Given the description of an element on the screen output the (x, y) to click on. 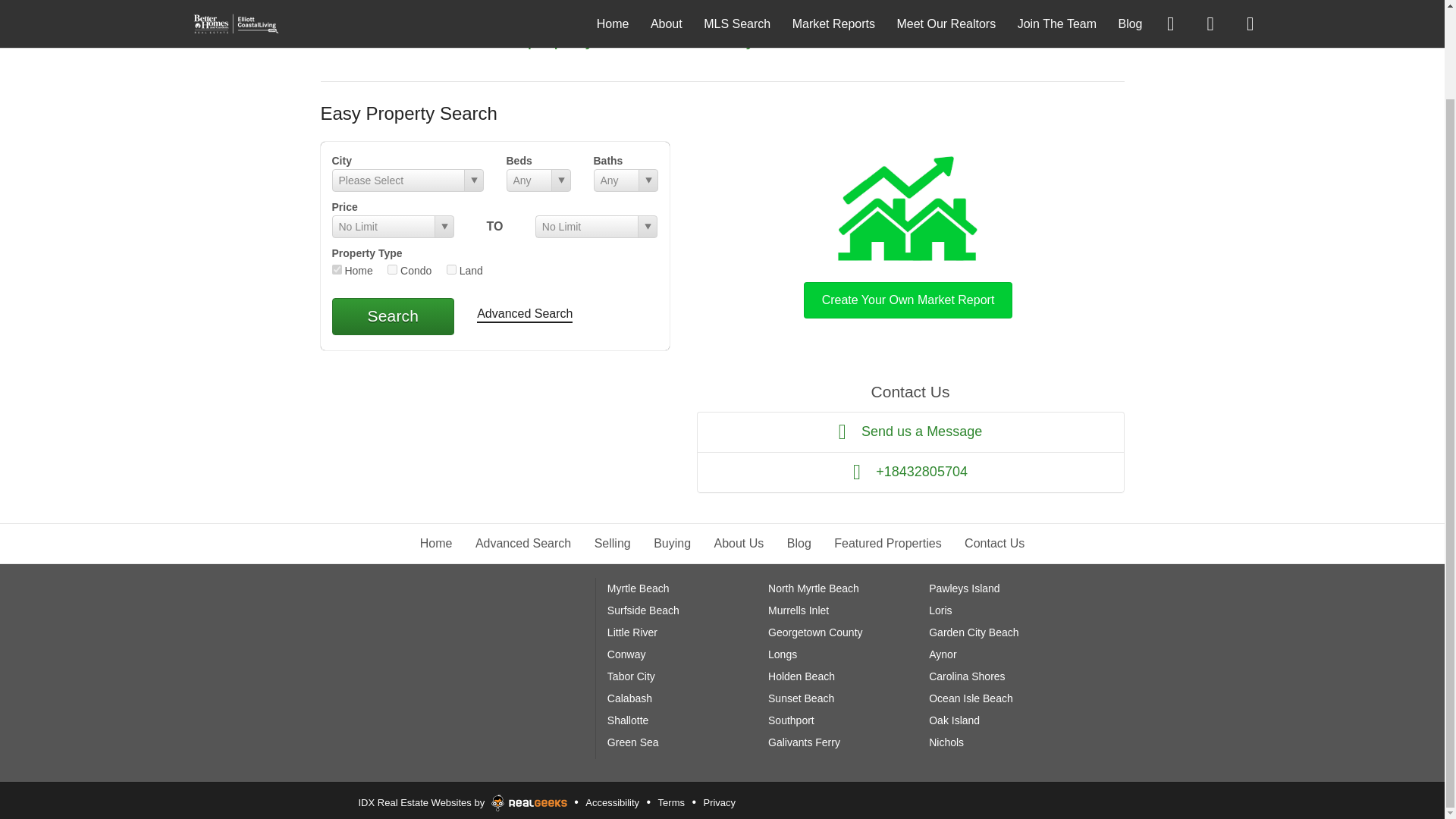
About Us (739, 543)
Search (392, 316)
Little River (632, 632)
Selling (612, 543)
Loris (940, 610)
Advanced Search (523, 543)
lnd (451, 269)
Advanced Search (524, 314)
Search (392, 316)
Buying (671, 543)
Murrells Inlet (798, 610)
Featured Properties (887, 543)
res (336, 269)
Pawleys Island (963, 588)
Georgetown County (815, 632)
